Given the description of an element on the screen output the (x, y) to click on. 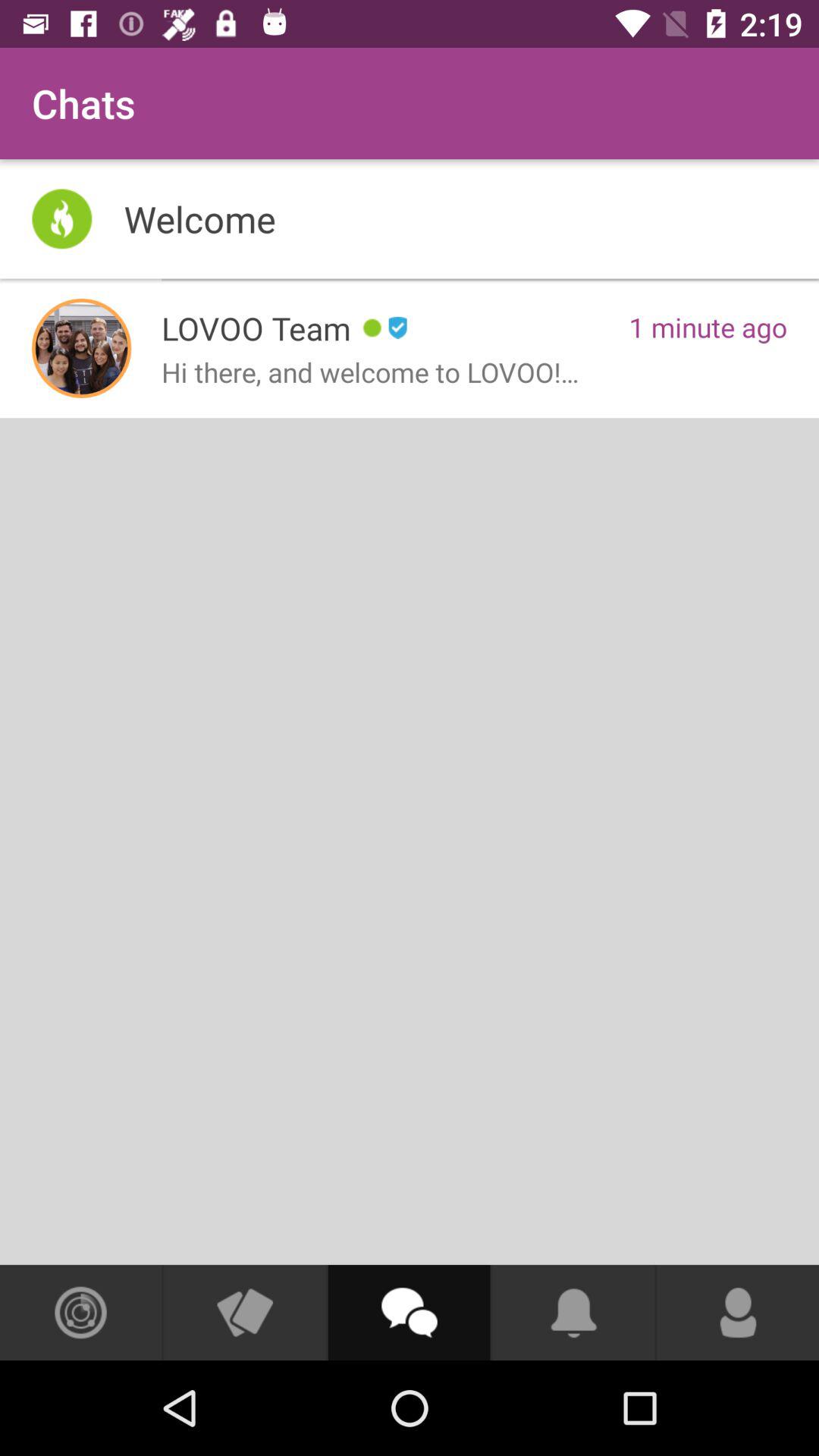
start chat (409, 1312)
